Given the description of an element on the screen output the (x, y) to click on. 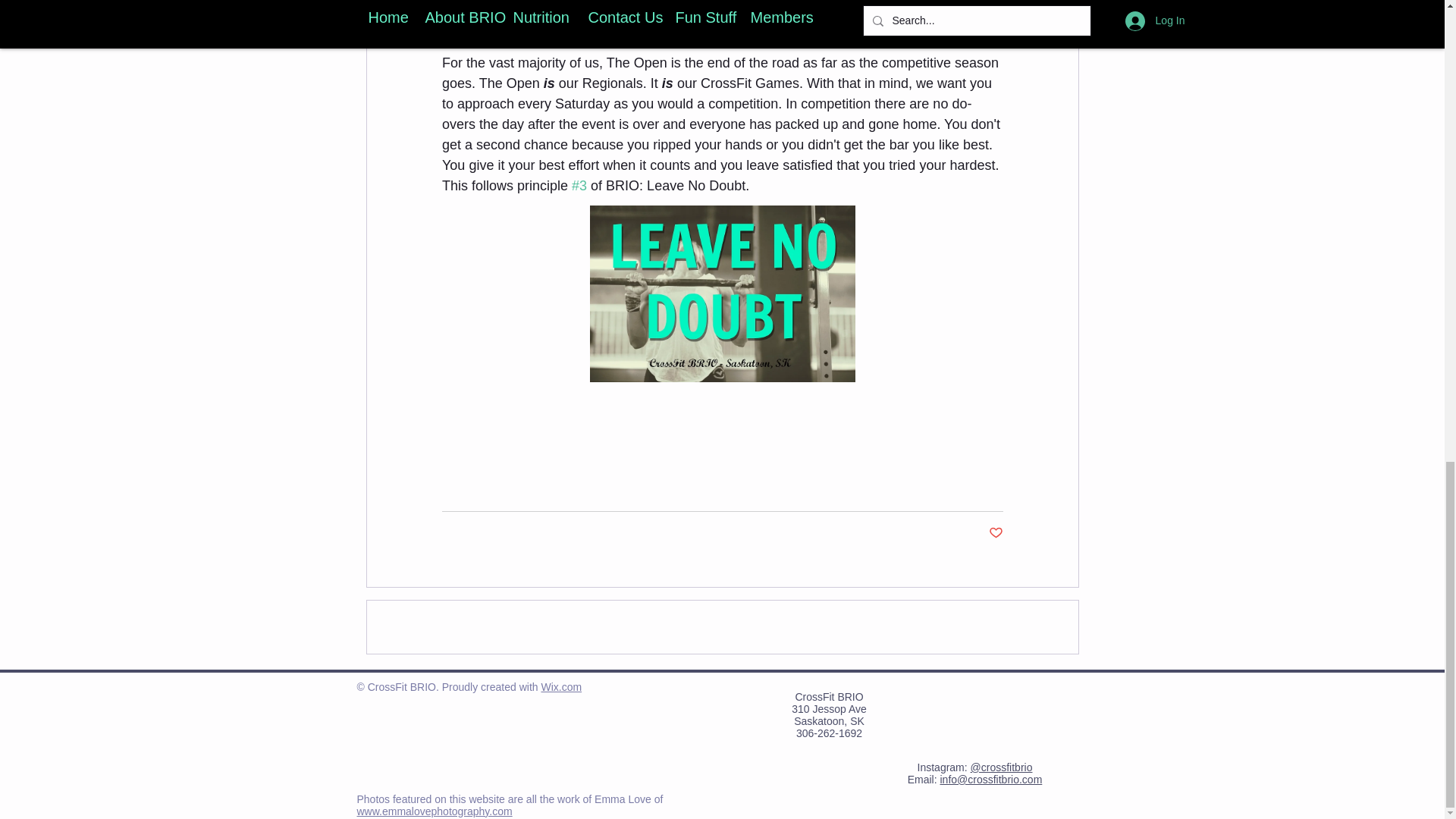
Post not marked as liked (995, 533)
Wix.com (560, 686)
